Given the description of an element on the screen output the (x, y) to click on. 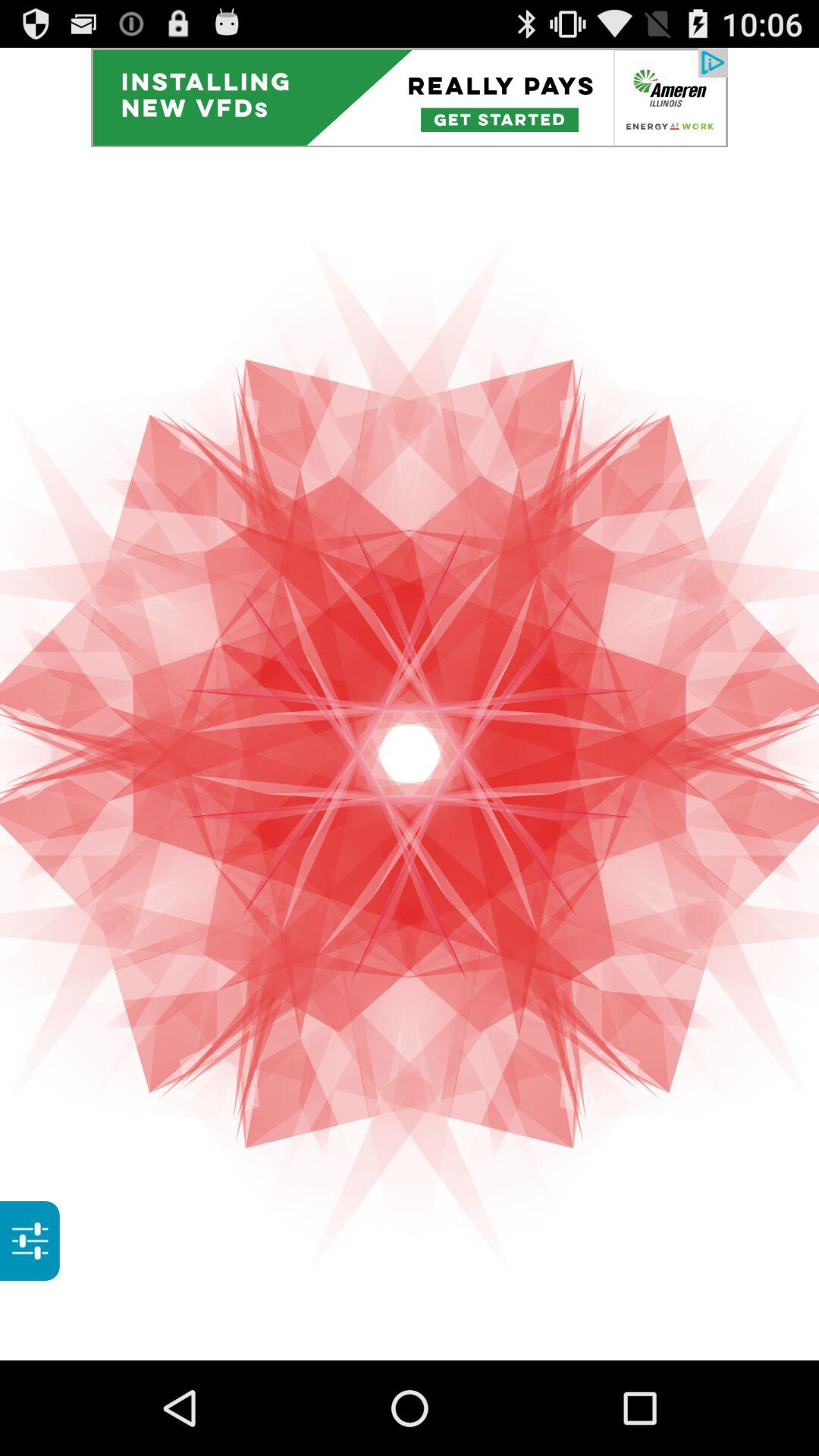
app advertisement (409, 97)
